Given the description of an element on the screen output the (x, y) to click on. 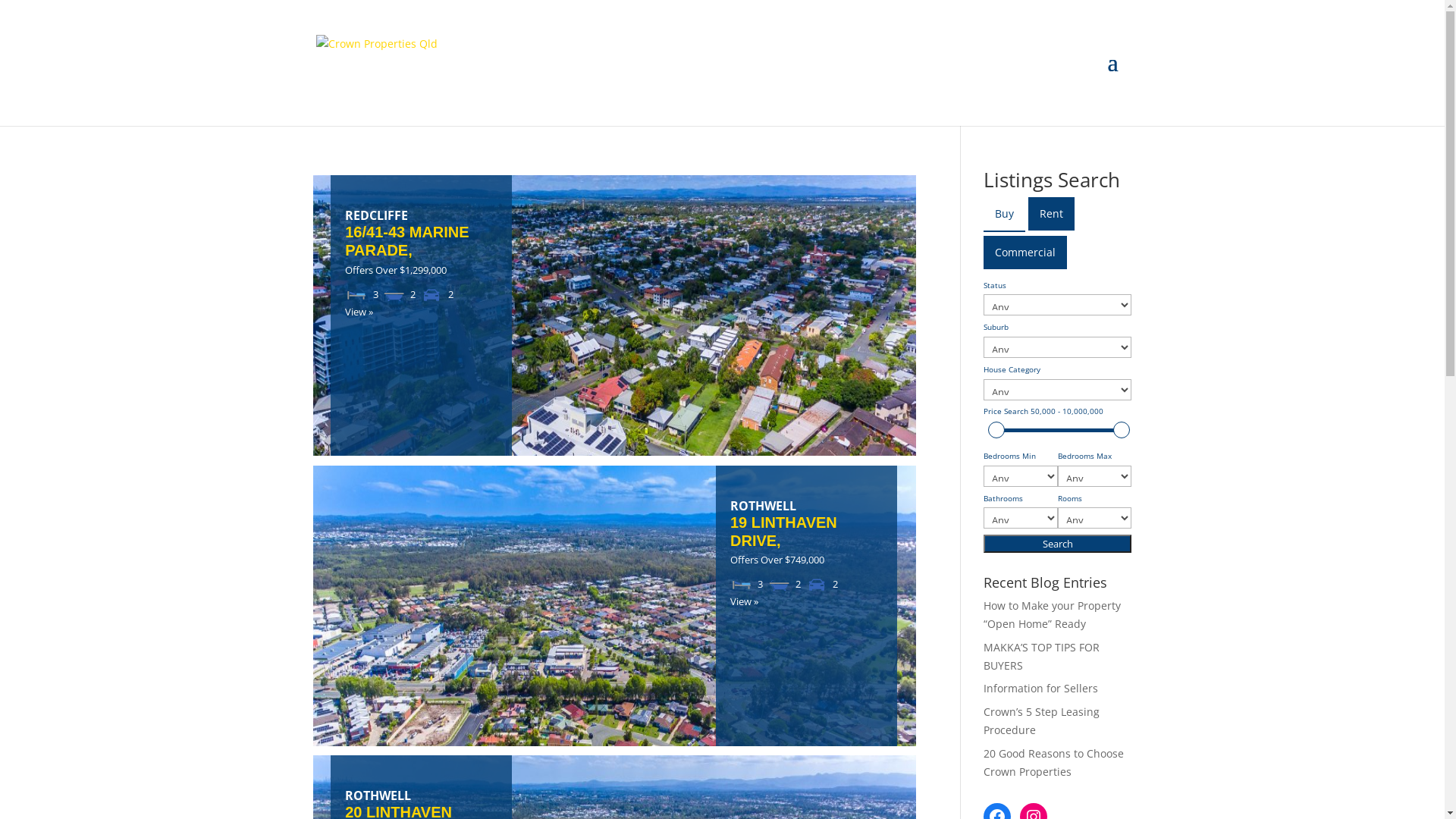
REDCLIFFE
16/41-43 MARINE PARADE, Element type: text (421, 233)
Bedrooms Element type: hover (741, 584)
Search Element type: text (1057, 543)
Information for Sellers Element type: text (1040, 687)
ROTHWELL
19 LINTHAVEN DRIVE, Element type: text (806, 523)
20 Good Reasons to Choose Crown Properties Element type: text (1053, 762)
Bathrooms Element type: hover (393, 294)
Parking Spaces Element type: hover (816, 584)
Bedrooms Element type: hover (356, 294)
Parking Spaces Element type: hover (431, 294)
Bathrooms Element type: hover (779, 584)
